Given the description of an element on the screen output the (x, y) to click on. 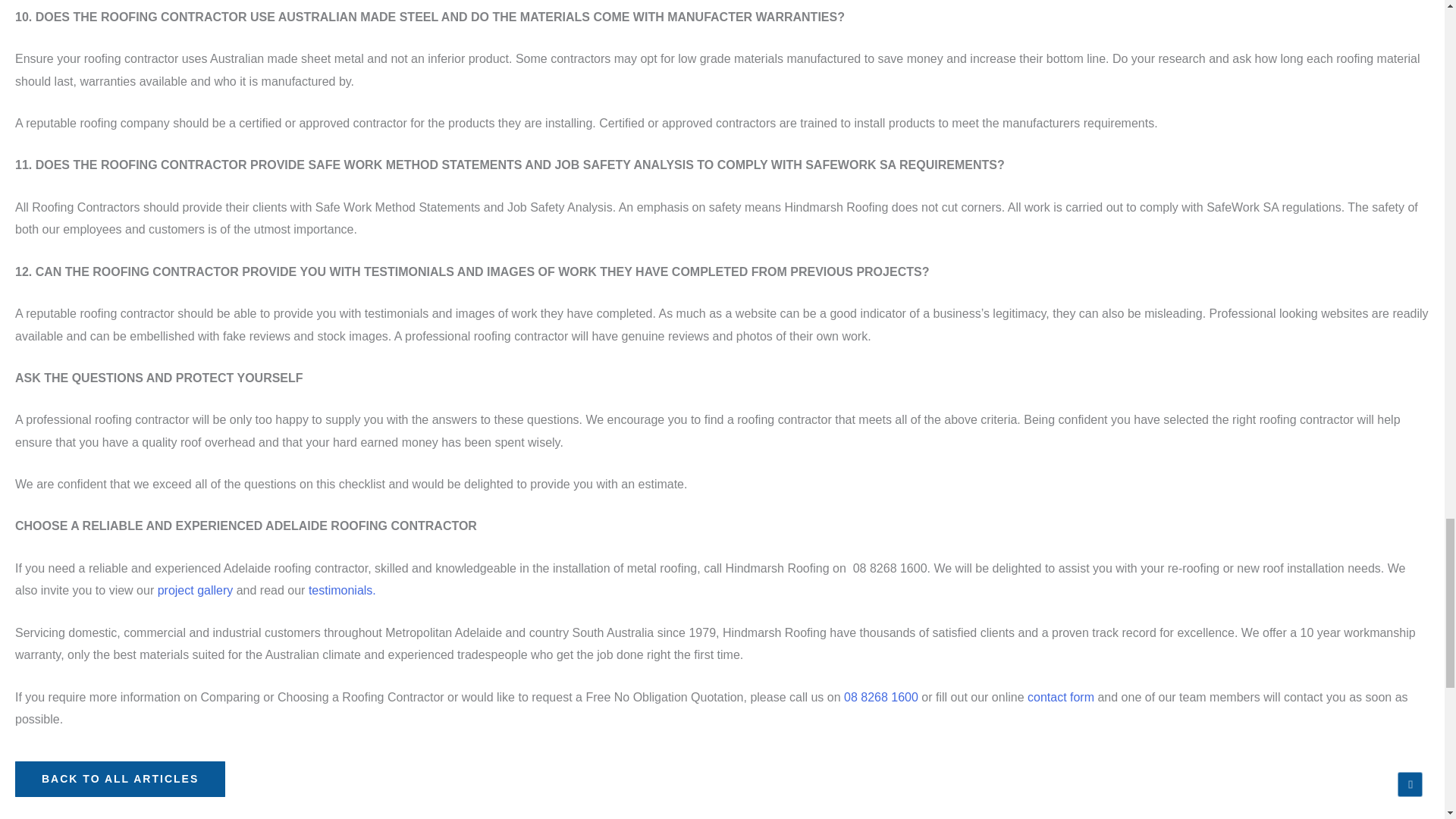
Home (119, 778)
Contact Us (1060, 701)
